Given the description of an element on the screen output the (x, y) to click on. 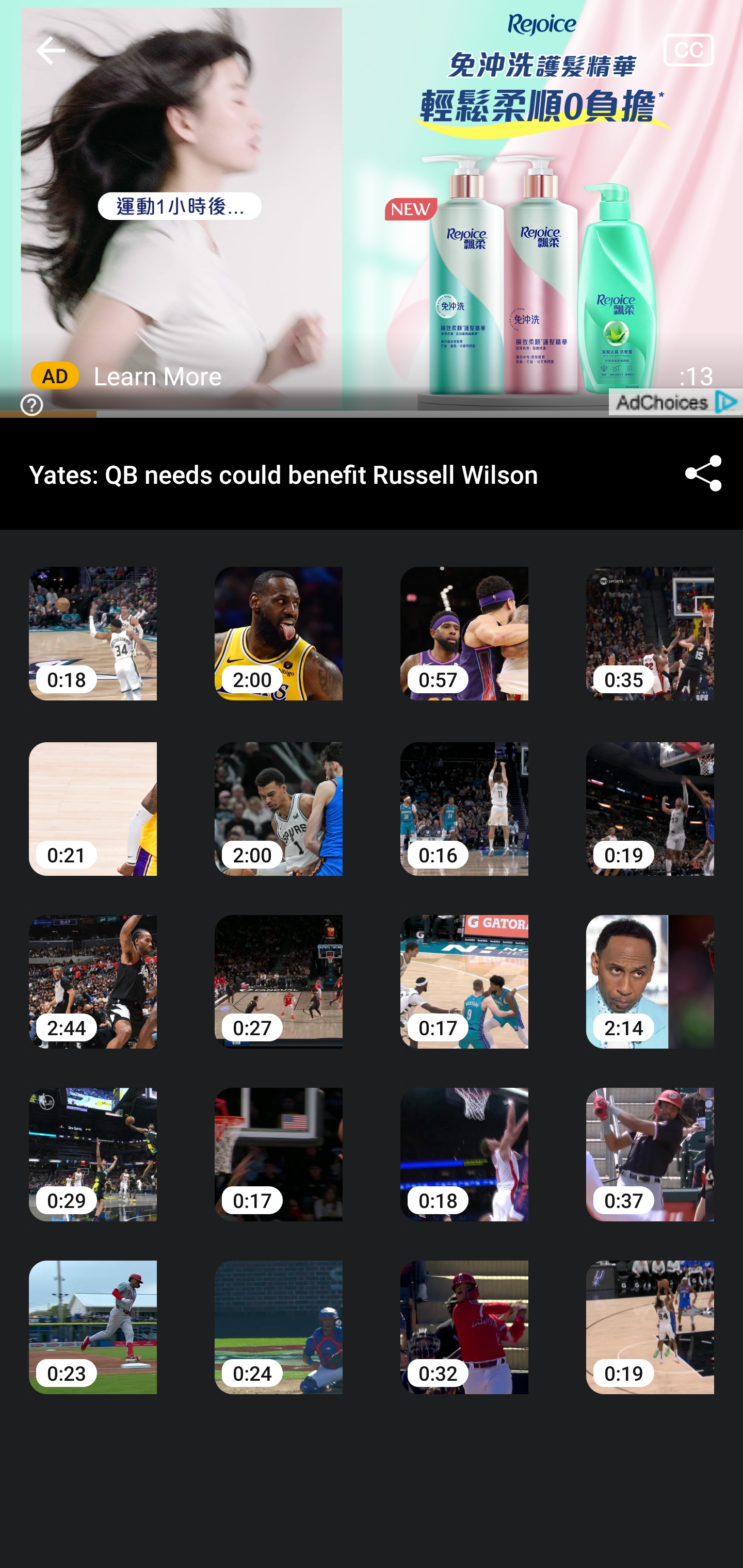
Why This Ad? get?name=admarker-full-tl (371, 209)
Navigate up (50, 50)
Closed captions  (703, 49)
Learn More (157, 375)
get?name=admarker-full-tl (675, 401)
Why This Ad? (27, 403)
Share © (703, 474)
0:18 (92, 618)
2:00 (278, 618)
0:57 (464, 618)
0:35 (650, 618)
0:21 (92, 794)
2:00 (278, 794)
0:16 (464, 794)
0:19 (650, 794)
2:44 (92, 967)
0:27 (278, 967)
0:17 (464, 967)
2:14 (650, 967)
0:29 (92, 1139)
0:17 (278, 1139)
0:18 (464, 1139)
0:37 (650, 1139)
0:23 (92, 1312)
0:24 (278, 1312)
0:32 (464, 1312)
0:19 (650, 1312)
